Given the description of an element on the screen output the (x, y) to click on. 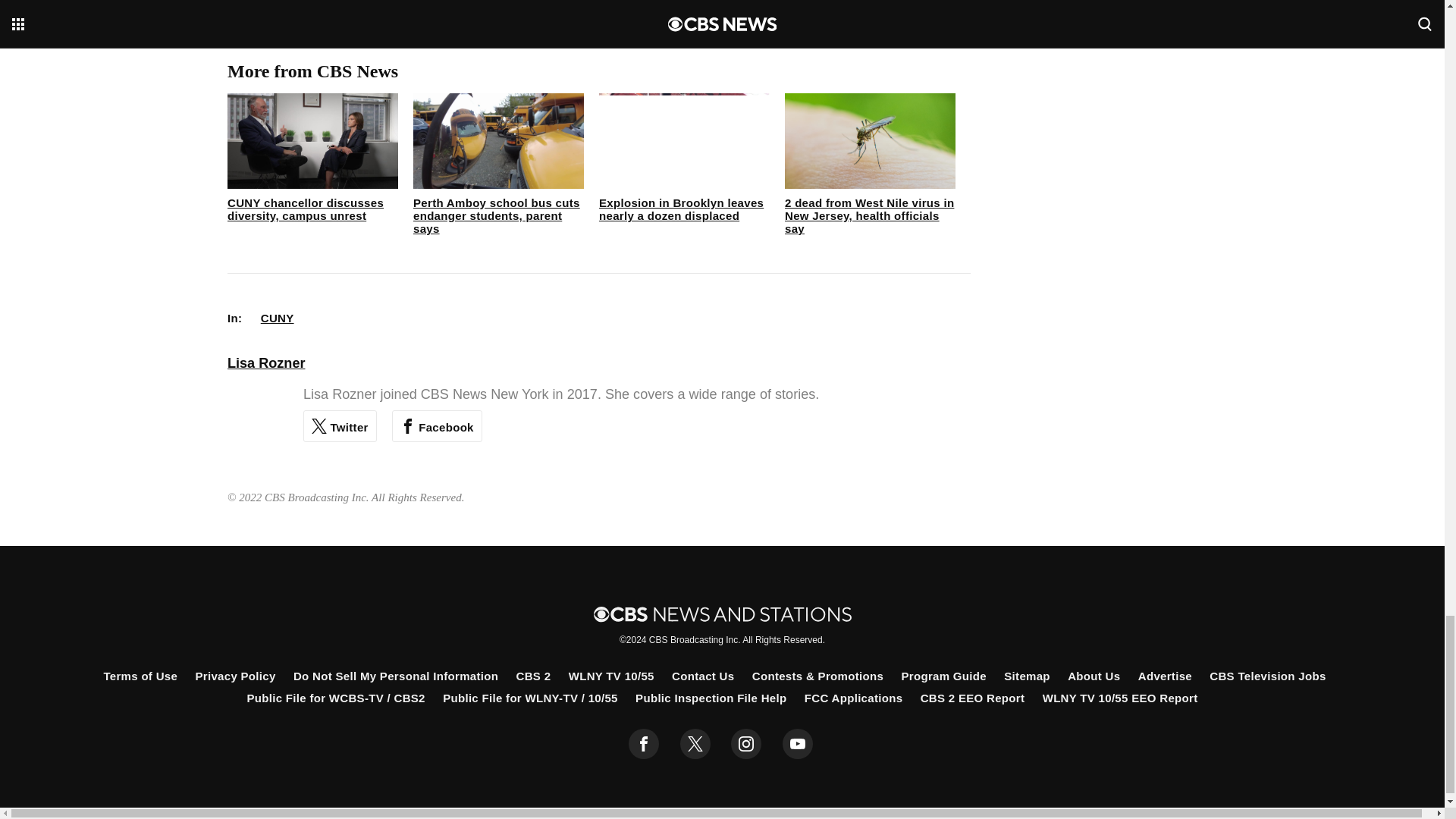
facebook (643, 743)
youtube (797, 743)
instagram (745, 743)
twitter (694, 743)
